Given the description of an element on the screen output the (x, y) to click on. 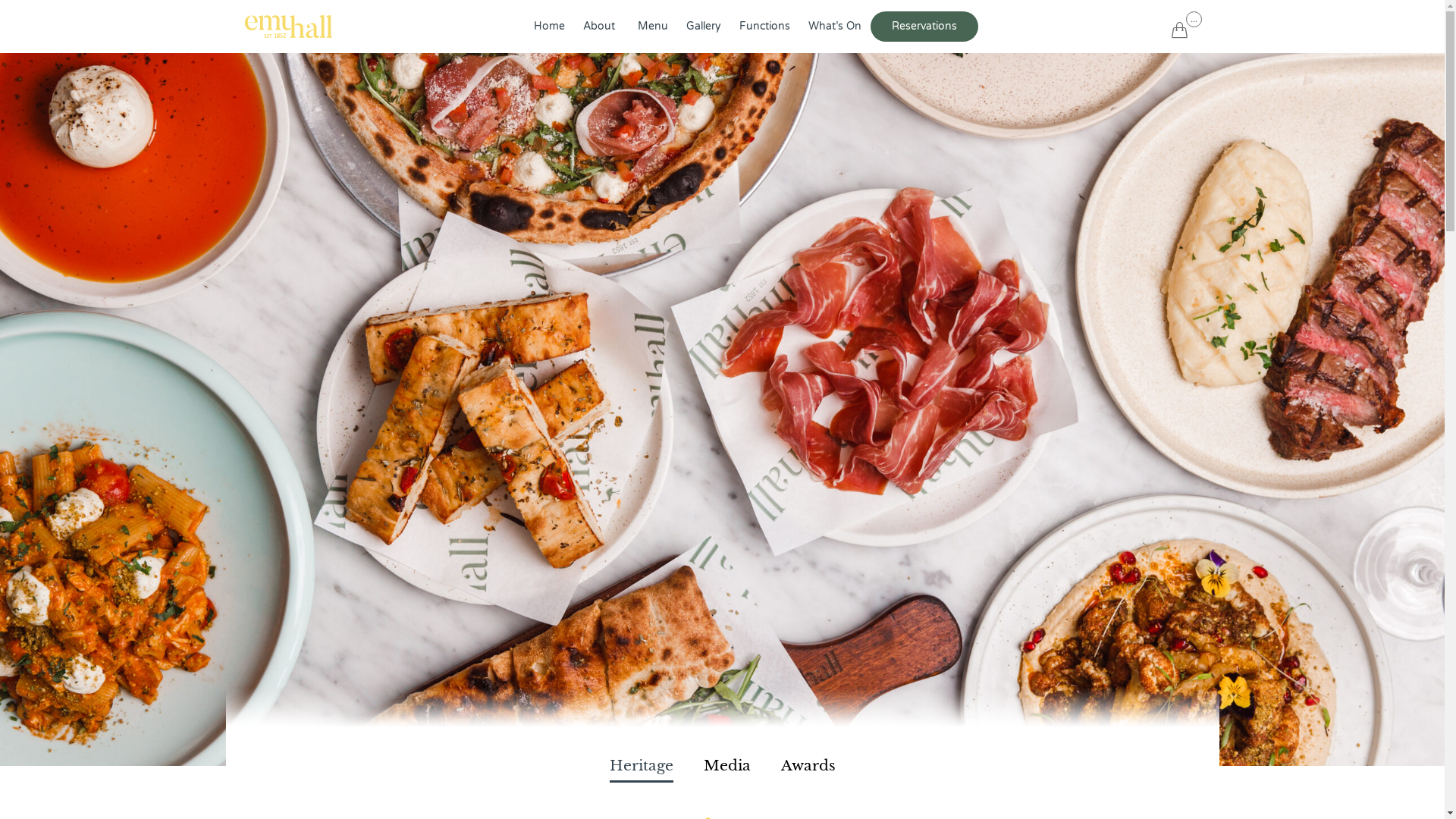
Menu Element type: text (652, 26)
Media Element type: text (726, 766)
Skip to content Element type: text (1170, 3)
Awards Element type: text (807, 766)
Heritage Element type: text (641, 766)
02 4735 3204 Element type: text (661, 673)
Gallery Element type: text (703, 26)
About Element type: text (601, 26)
Subscrible Element type: text (1026, 508)
Home Element type: text (549, 26)
info@emuhall.com.au Element type: text (673, 690)
Functions Element type: text (764, 26)
Reservations Element type: text (924, 26)
